Given the description of an element on the screen output the (x, y) to click on. 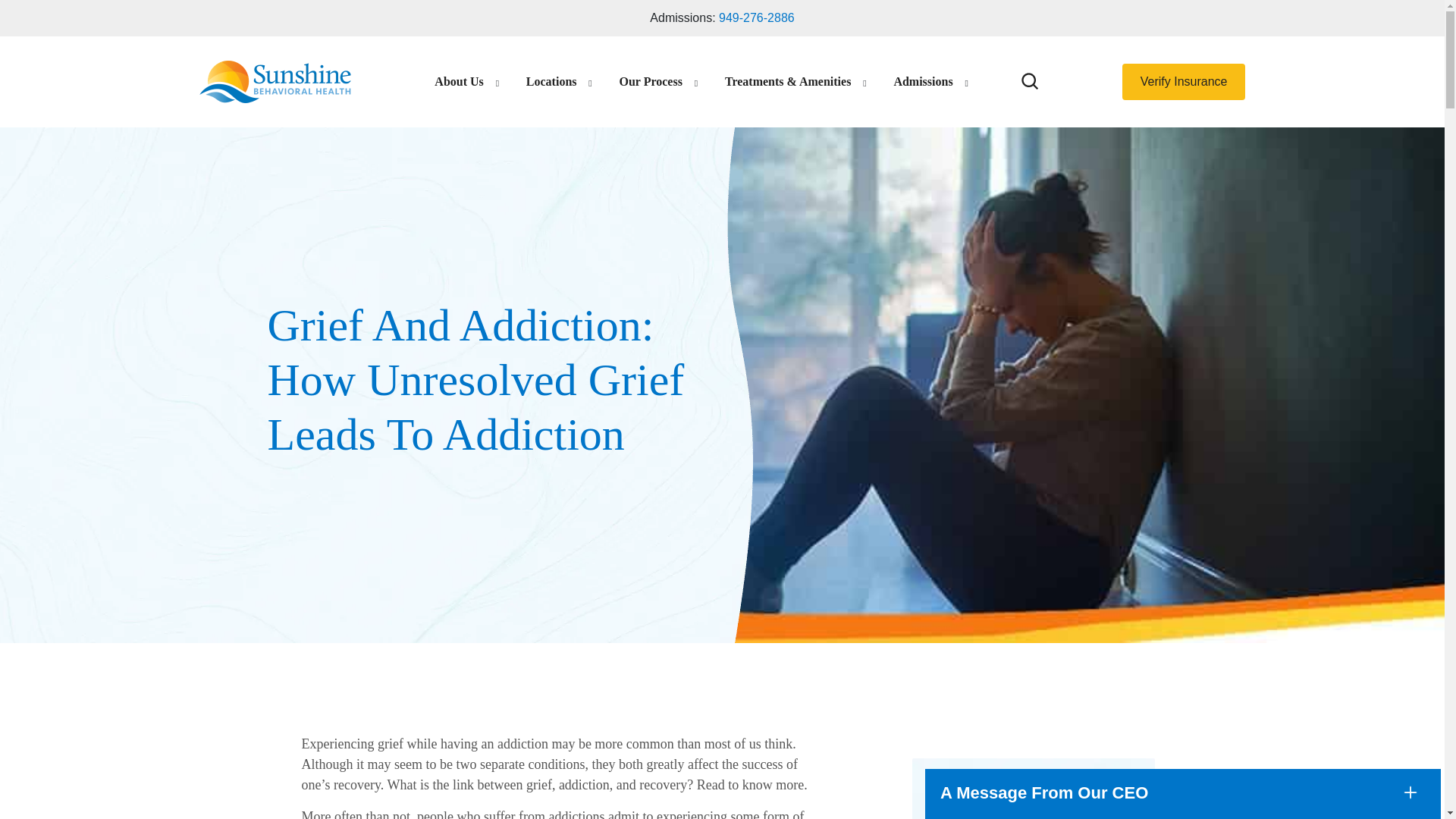
About Us (458, 81)
Locations (550, 81)
Our Process (649, 81)
Admissions (922, 81)
949-276-2886 (756, 17)
